Given the description of an element on the screen output the (x, y) to click on. 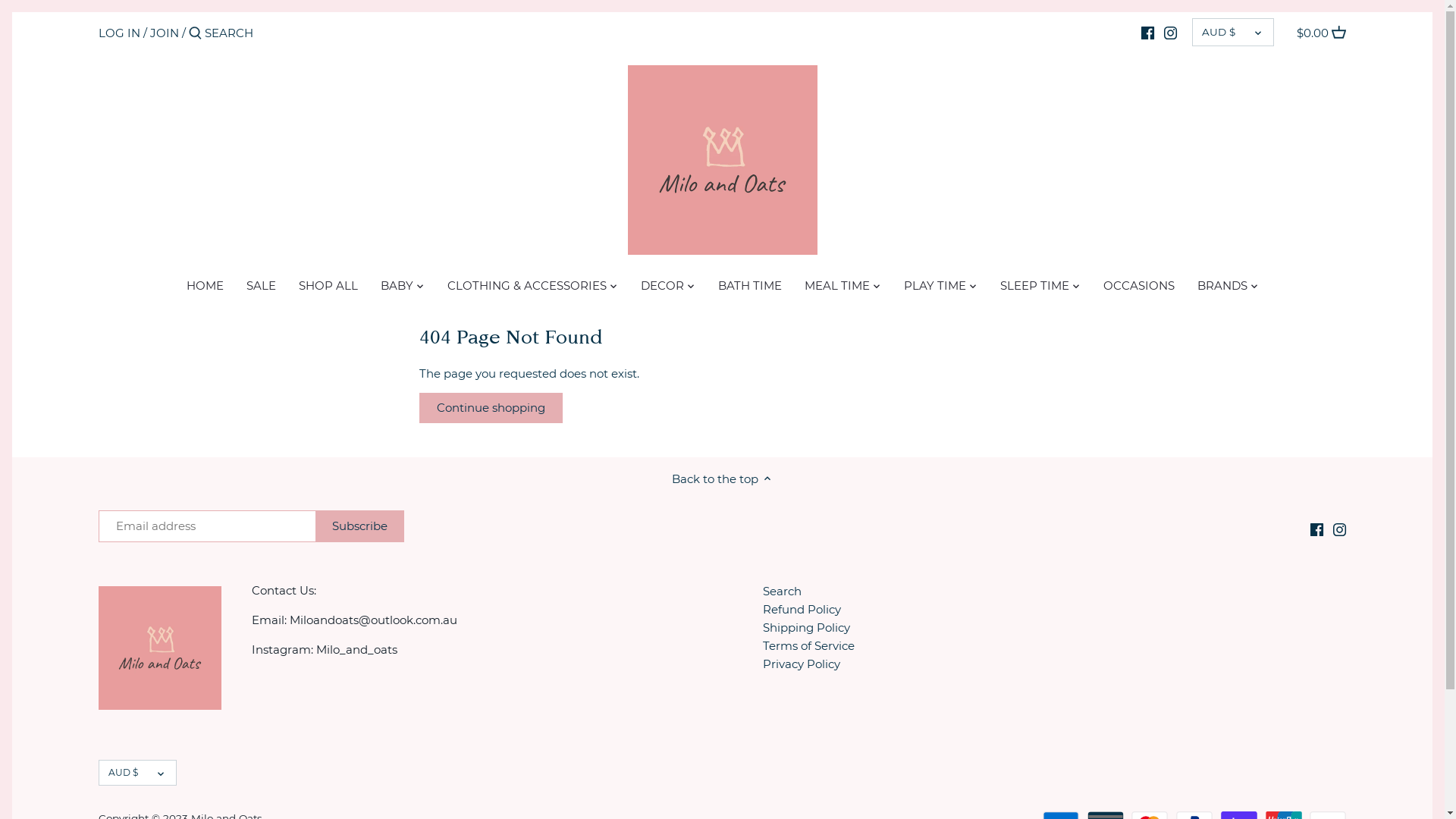
Subscribe Element type: text (359, 526)
PLAY TIME Element type: text (933, 287)
Terms of Service Element type: text (808, 645)
MEAL TIME Element type: text (837, 287)
BABY Element type: text (395, 287)
Shipping Policy Element type: text (806, 627)
Search Element type: text (781, 591)
$0.00 Element type: text (1321, 32)
SLEEP TIME Element type: text (1034, 287)
AUD $ Element type: text (137, 772)
SALE Element type: text (261, 287)
Privacy Policy Element type: text (801, 663)
FACEBOOK Element type: text (1147, 32)
BRANDS Element type: text (1222, 287)
LOG IN Element type: text (119, 32)
BATH TIME Element type: text (749, 287)
Refund Policy Element type: text (801, 609)
OCCASIONS Element type: text (1139, 287)
Continue shopping Element type: text (489, 407)
HOME Element type: text (204, 287)
Back to the top Element type: text (722, 478)
AUD $ Element type: text (1233, 31)
JOIN Element type: text (164, 32)
INSTAGRAM Element type: text (1170, 32)
DECOR Element type: text (662, 287)
CLOTHING & ACCESSORIES Element type: text (526, 287)
Instagram Element type: text (1339, 528)
SHOP ALL Element type: text (327, 287)
Facebook Element type: text (1316, 528)
